Given the description of an element on the screen output the (x, y) to click on. 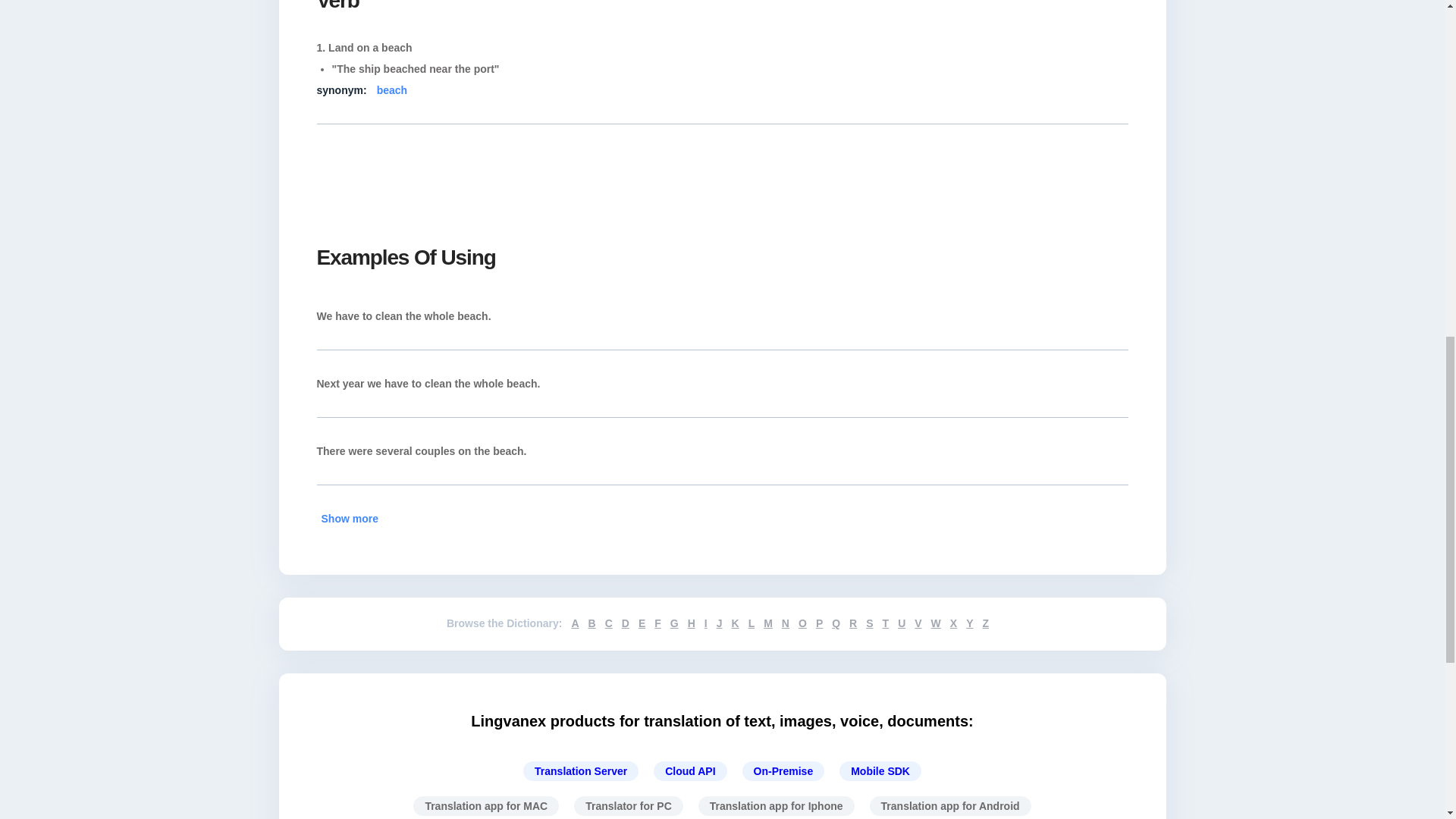
Q (835, 623)
V (917, 623)
N (785, 623)
U (901, 623)
R (852, 623)
L (751, 623)
G (673, 623)
D (624, 623)
S (869, 623)
K (734, 623)
M (767, 623)
I (705, 623)
F (657, 623)
C (608, 623)
B (591, 623)
